Given the description of an element on the screen output the (x, y) to click on. 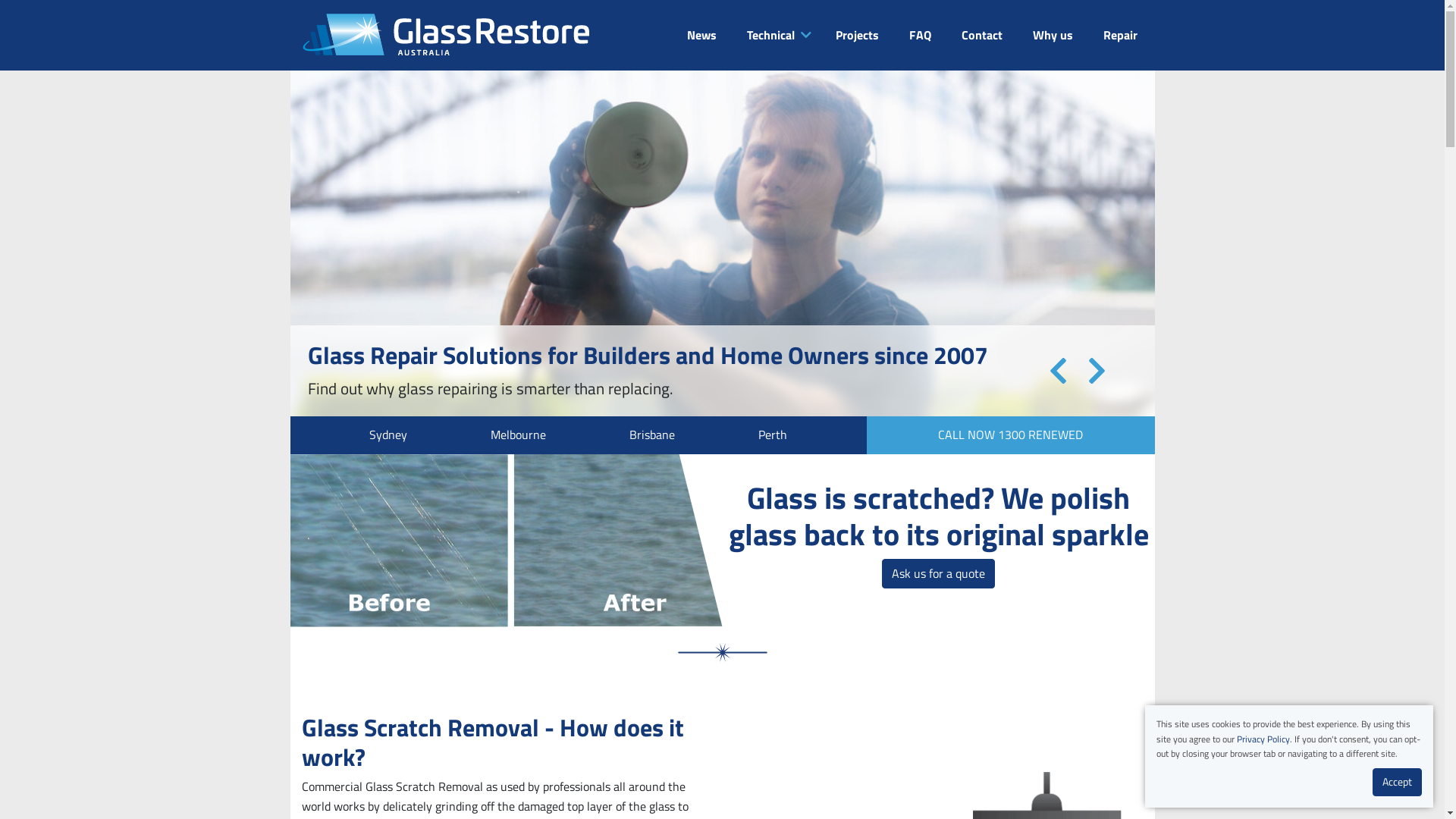
Why us Element type: text (1052, 35)
Technical Element type: text (768, 35)
Projects Element type: text (856, 35)
Repair Element type: text (1119, 35)
Contact Element type: text (981, 35)
1300 RENEWED Element type: text (1039, 434)
Privacy Policy Element type: text (1262, 738)
Accept Element type: text (1396, 782)
Ask us for a quote Element type: text (937, 573)
Glass Restore Australia Element type: hover (445, 35)
FAQ Element type: text (919, 35)
News Element type: text (701, 35)
